Given the description of an element on the screen output the (x, y) to click on. 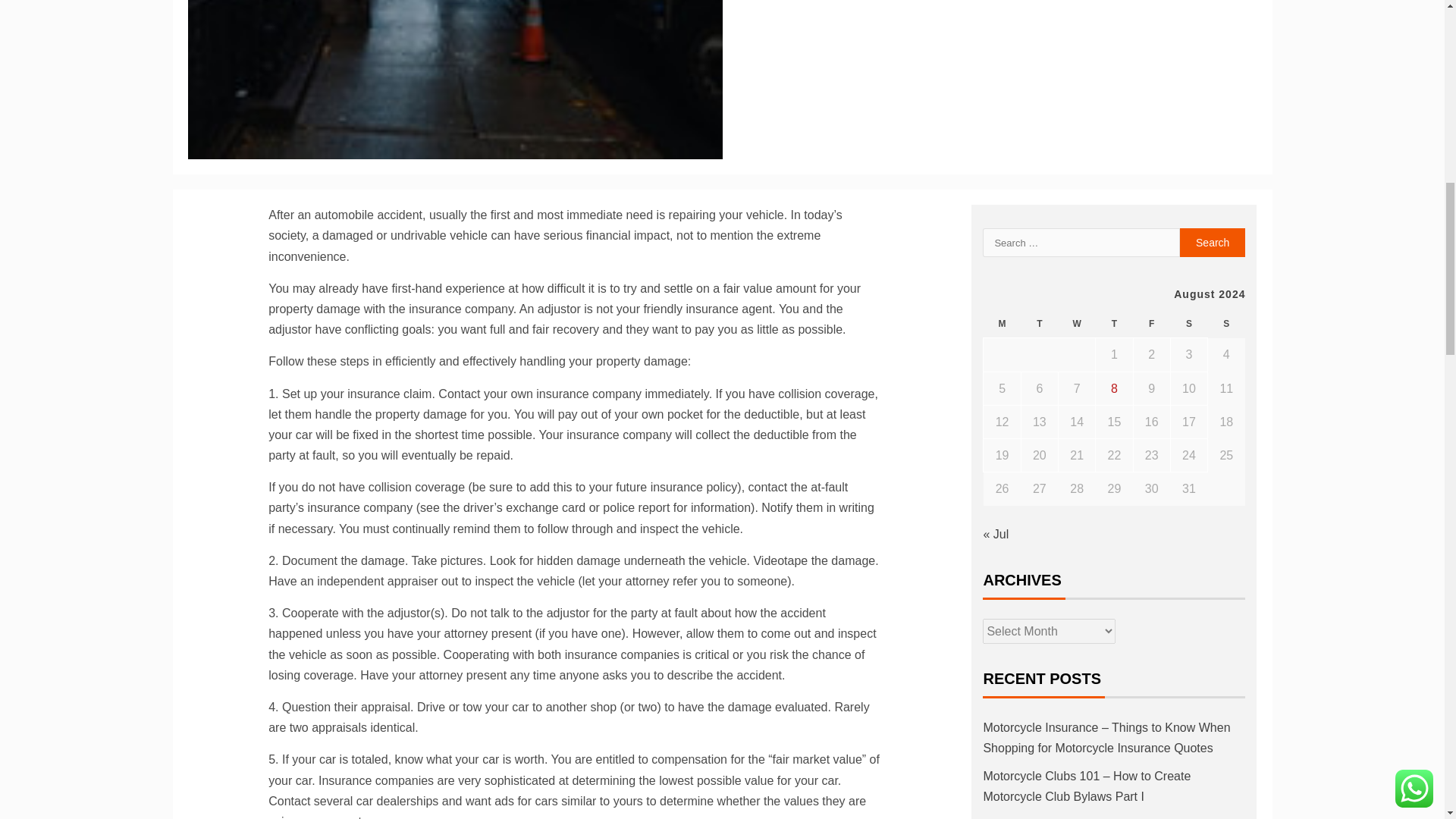
Search (1212, 242)
Search (1212, 242)
Repairing Your Vehicle From an Auto Accident (454, 79)
